Given the description of an element on the screen output the (x, y) to click on. 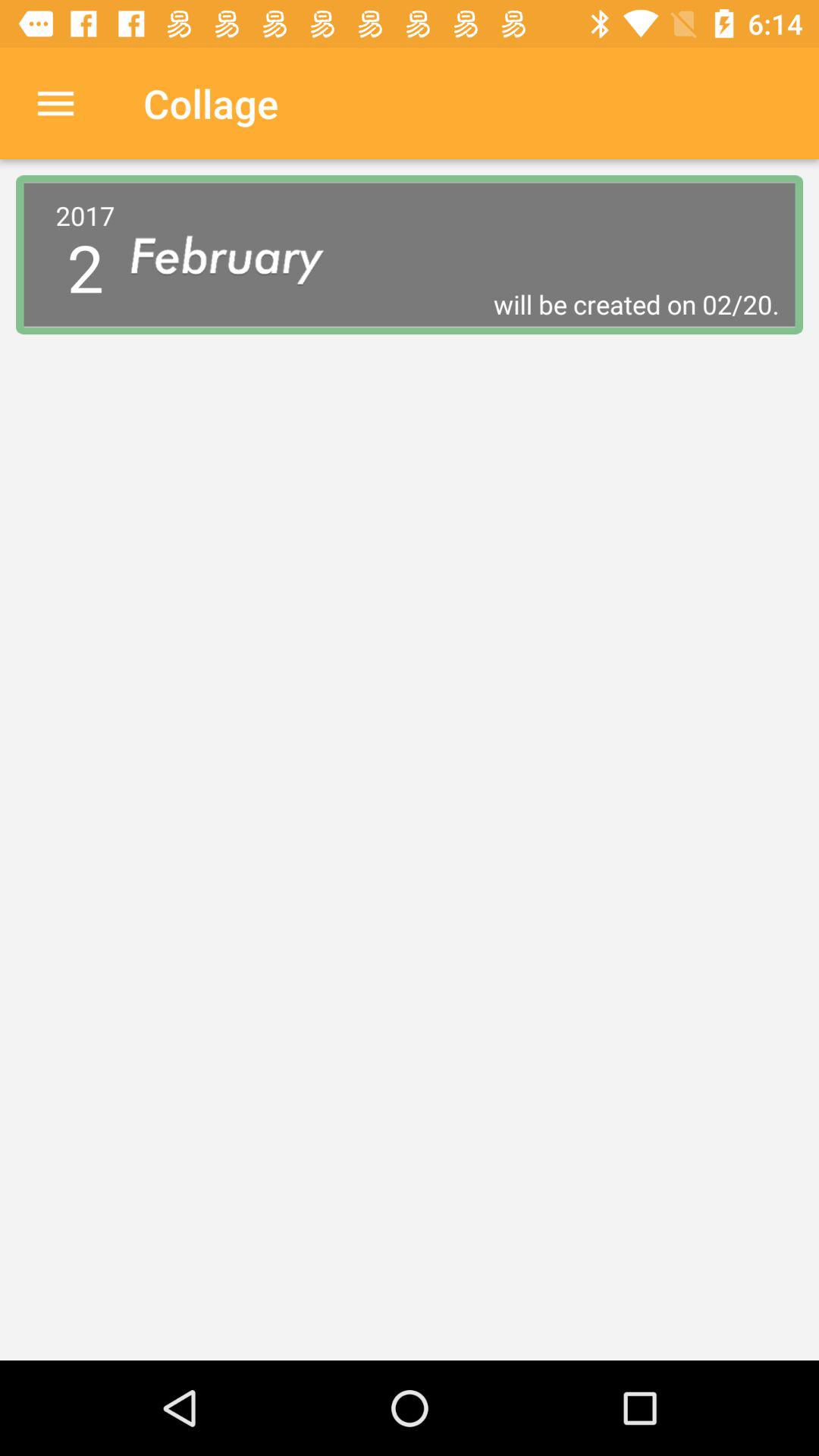
turn off item above will be created icon (239, 254)
